Given the description of an element on the screen output the (x, y) to click on. 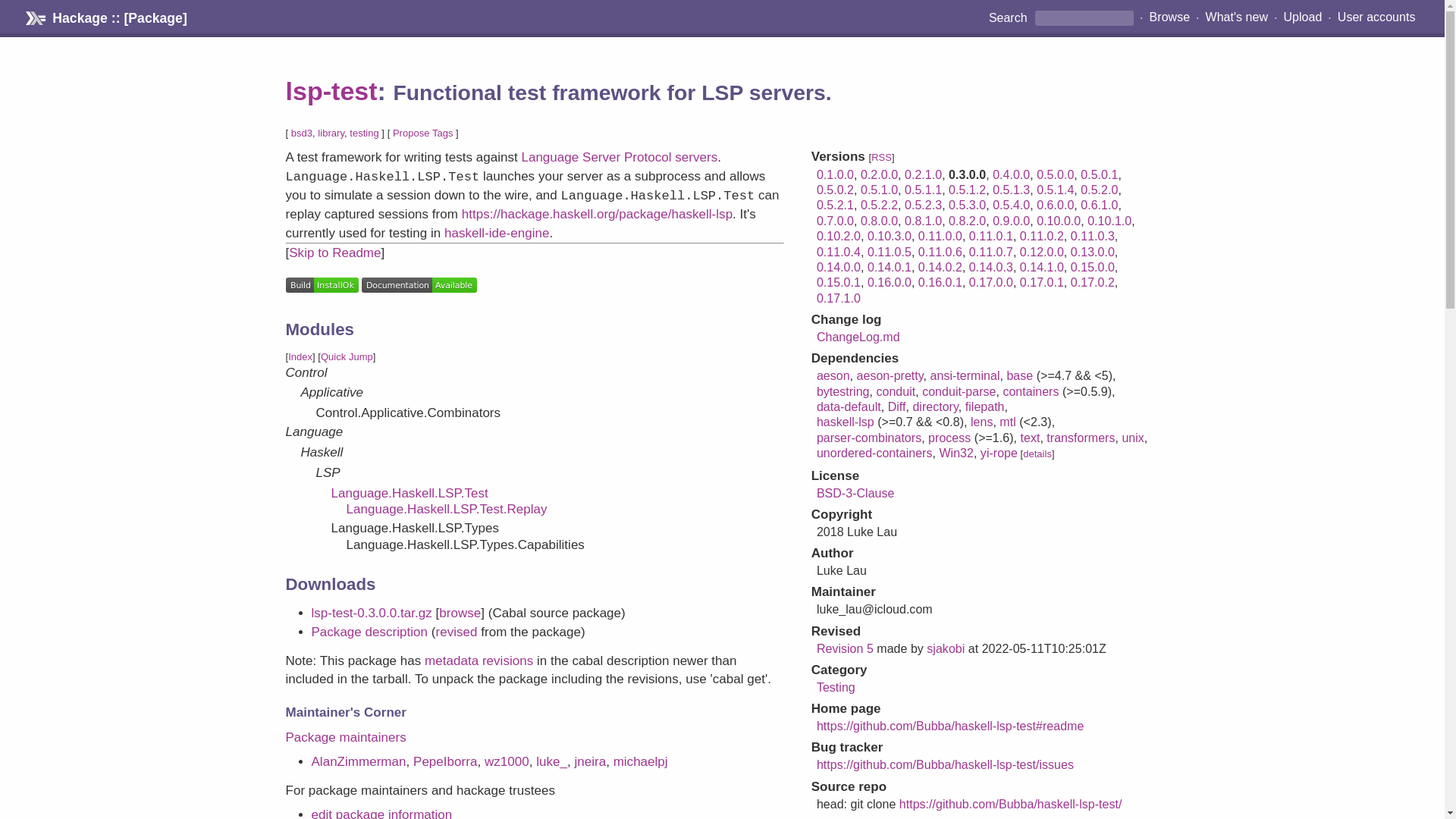
AlanZimmerman (358, 761)
wz1000 (506, 761)
Propose Tags (422, 132)
library (330, 132)
PepeIborra (445, 761)
Language Server Protocol servers (619, 156)
haskell-ide-engine (496, 233)
testing (363, 132)
Index (300, 356)
lsp-test (331, 90)
edit package information (381, 813)
jneira (589, 761)
browse (459, 612)
Wed May 11 10:25:01 UTC 2022 (1043, 648)
Browse (1169, 16)
